Given the description of an element on the screen output the (x, y) to click on. 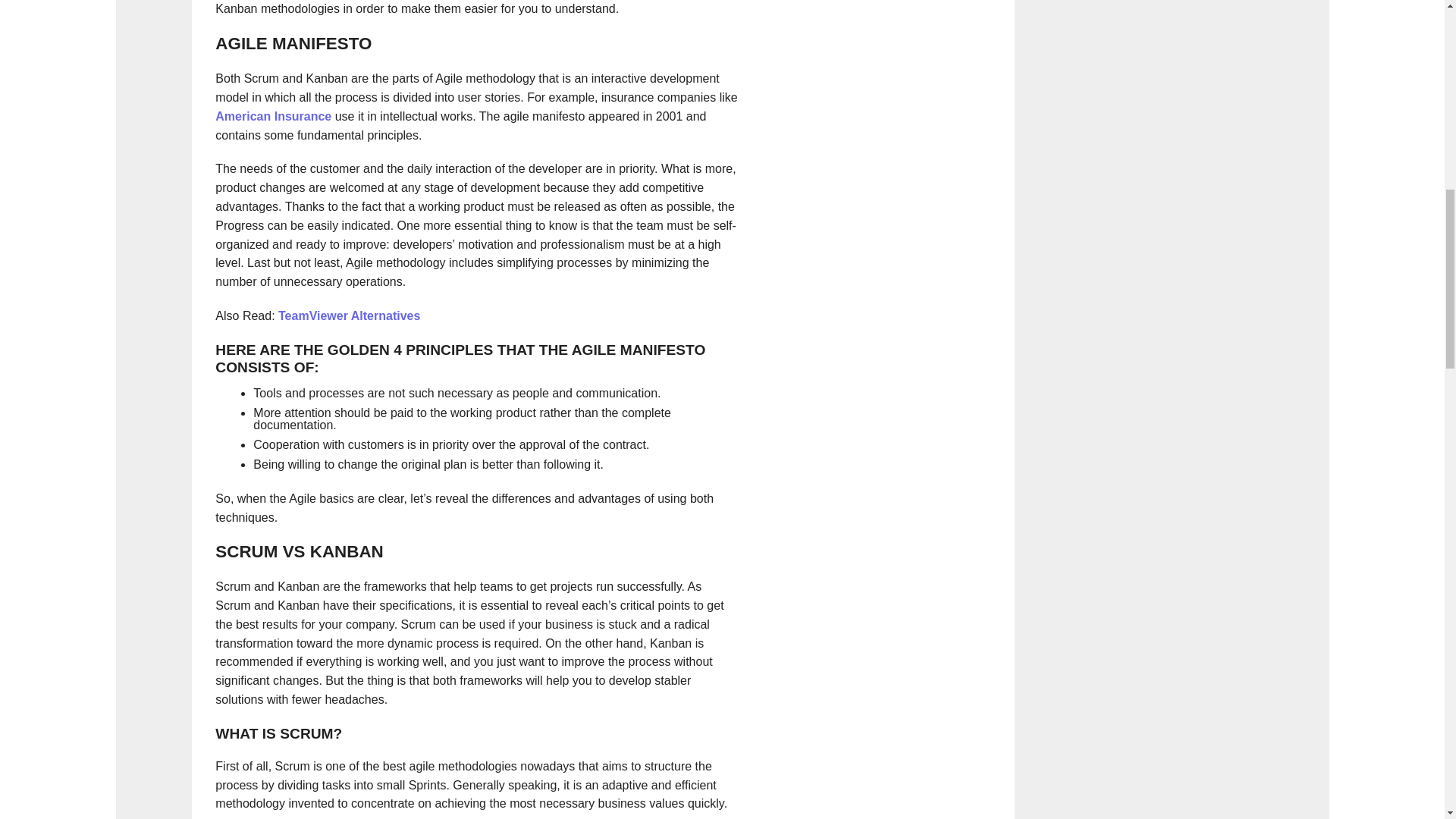
American Insurance (273, 115)
